Given the description of an element on the screen output the (x, y) to click on. 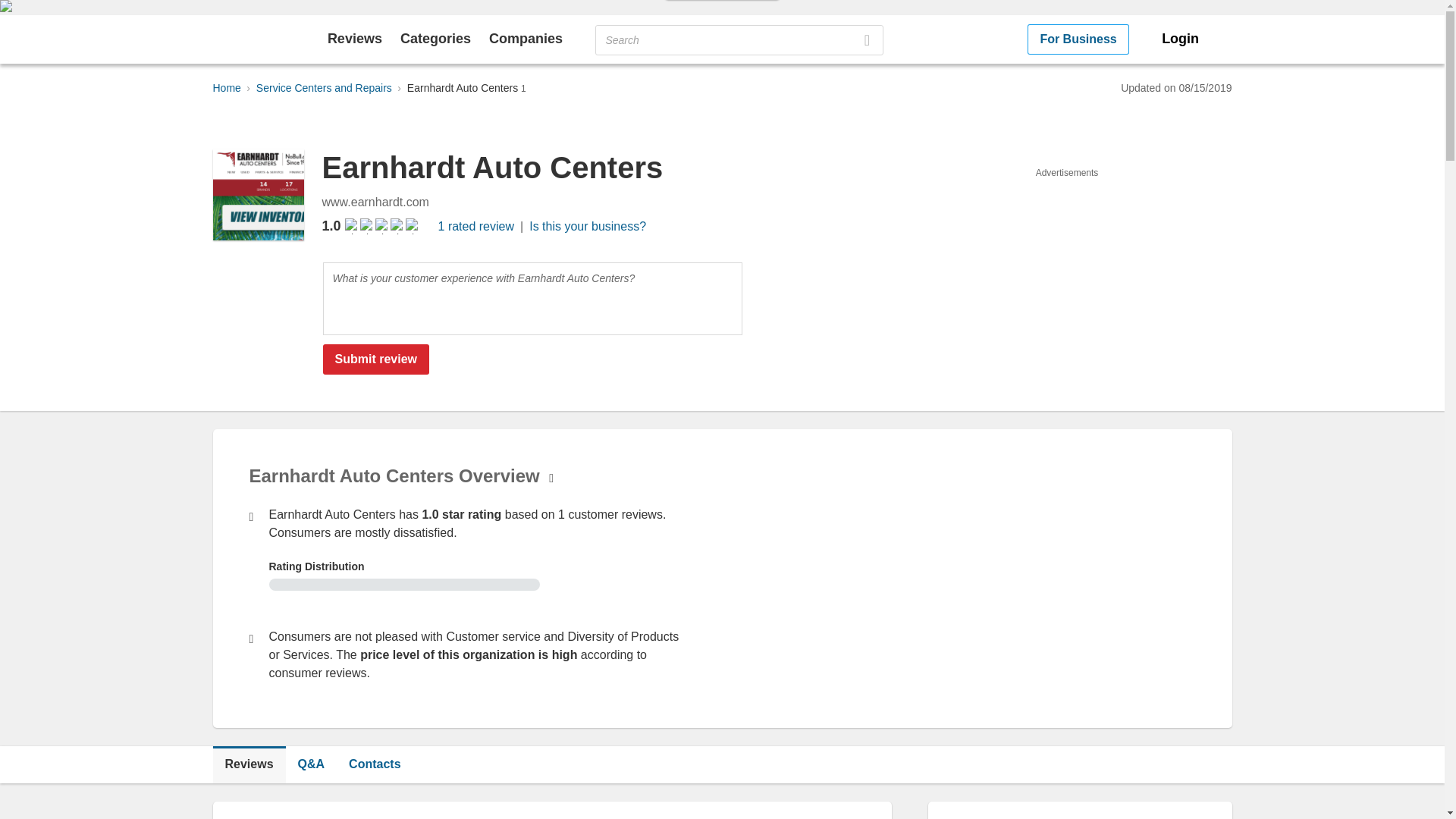
Service Centers and Repairs (323, 87)
Reviews (354, 38)
Earnhardt Auto Centers reviews (248, 764)
PissedConsumer (253, 39)
Reviews (248, 764)
Categories (435, 38)
For Business (1077, 39)
Submit review (376, 358)
Home (226, 87)
Companies (525, 38)
Contacts (374, 764)
